Given the description of an element on the screen output the (x, y) to click on. 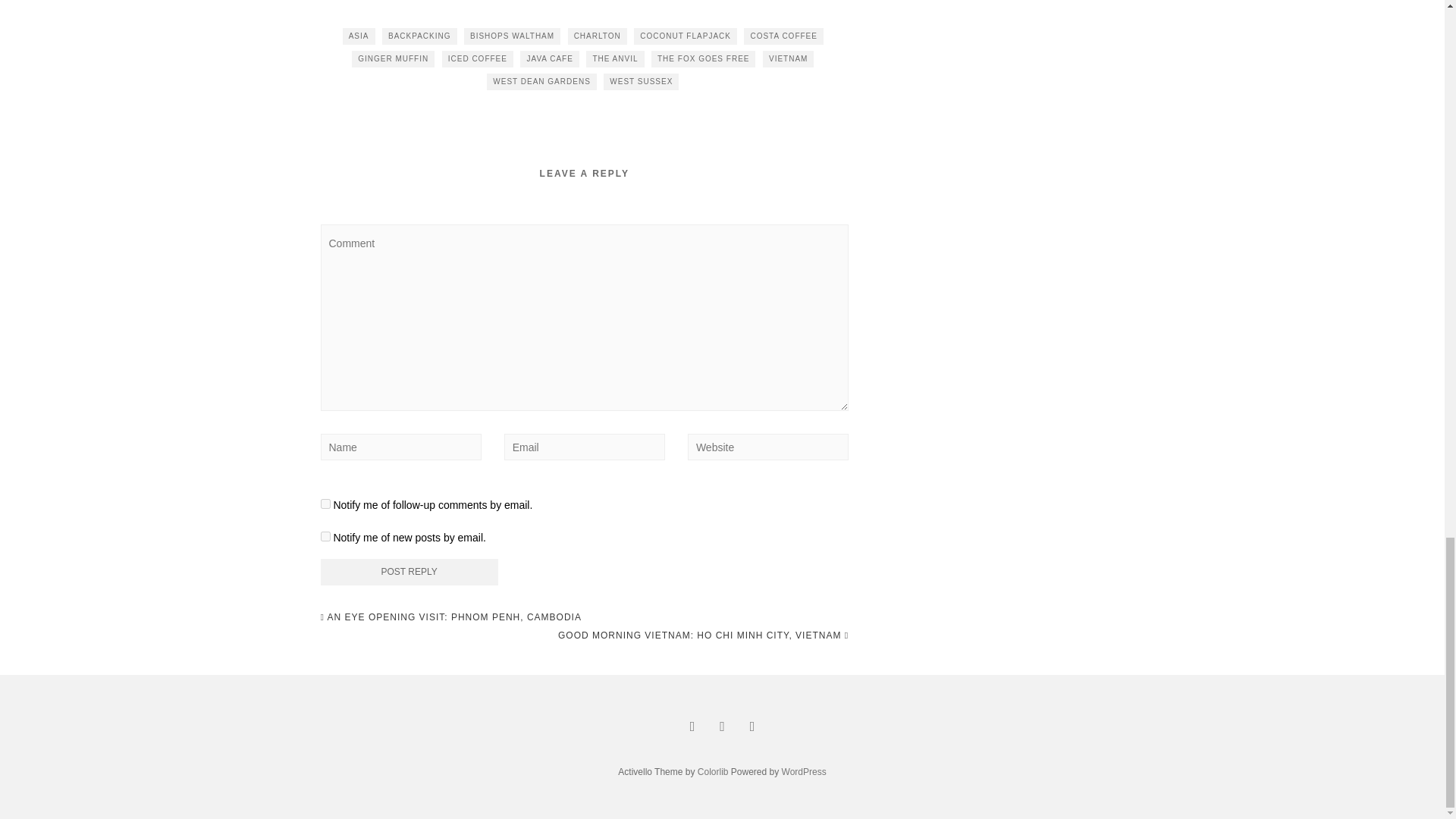
subscribe (325, 503)
Post Reply (408, 571)
subscribe (325, 536)
